Given the description of an element on the screen output the (x, y) to click on. 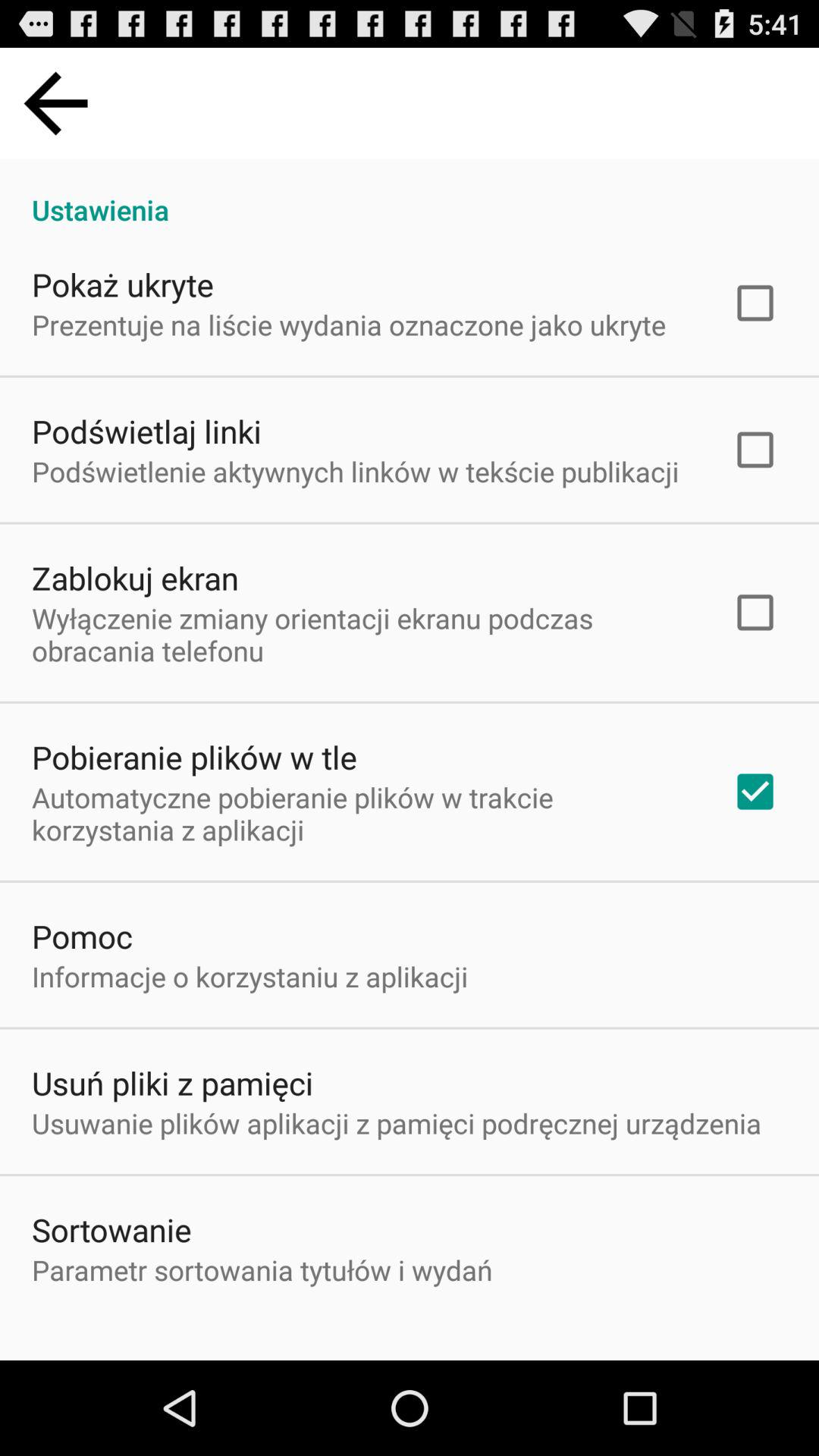
choose the item above ustawienia icon (55, 103)
